Given the description of an element on the screen output the (x, y) to click on. 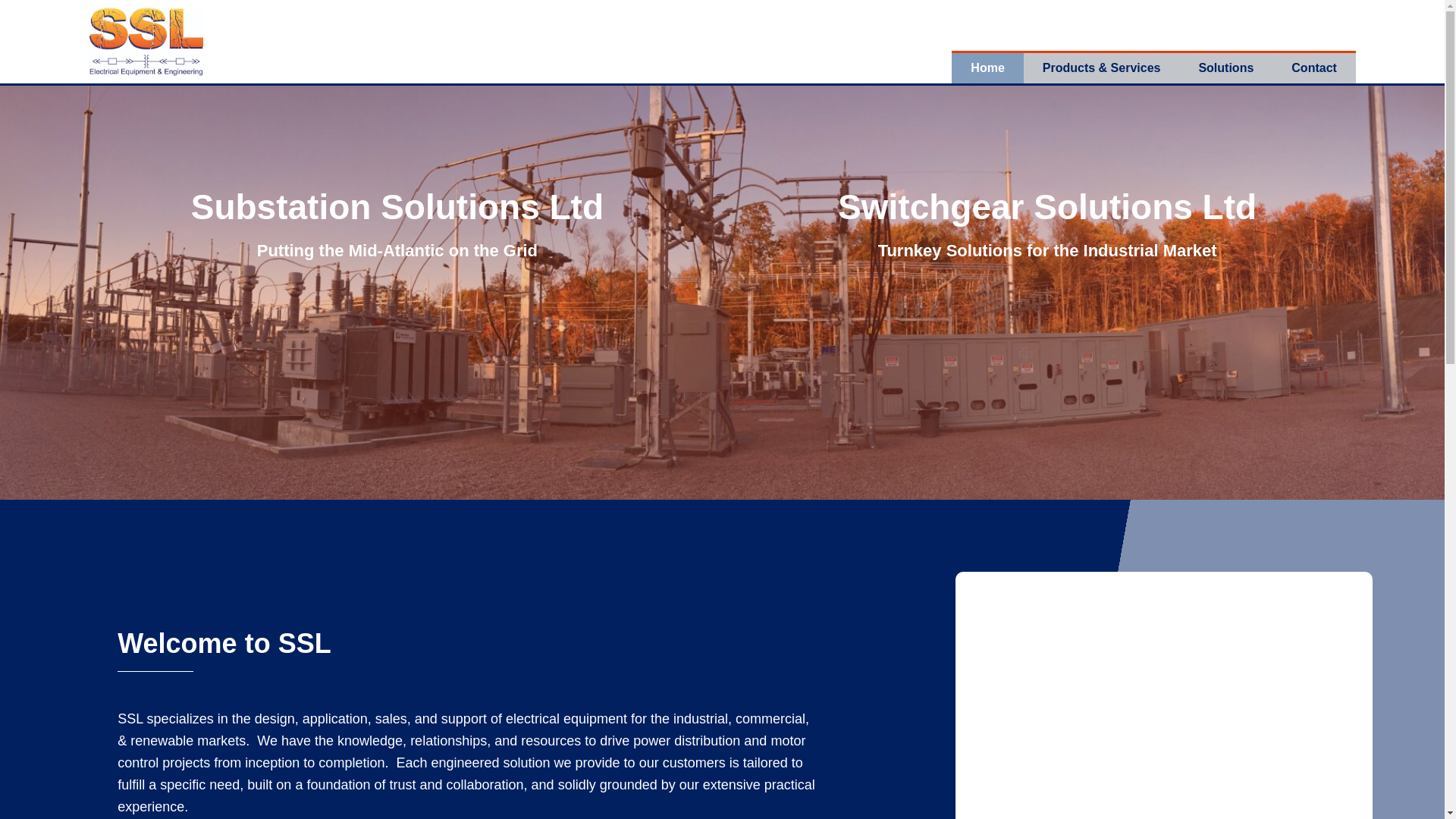
Home (987, 66)
Contact (1313, 66)
Solutions (1225, 66)
